Given the description of an element on the screen output the (x, y) to click on. 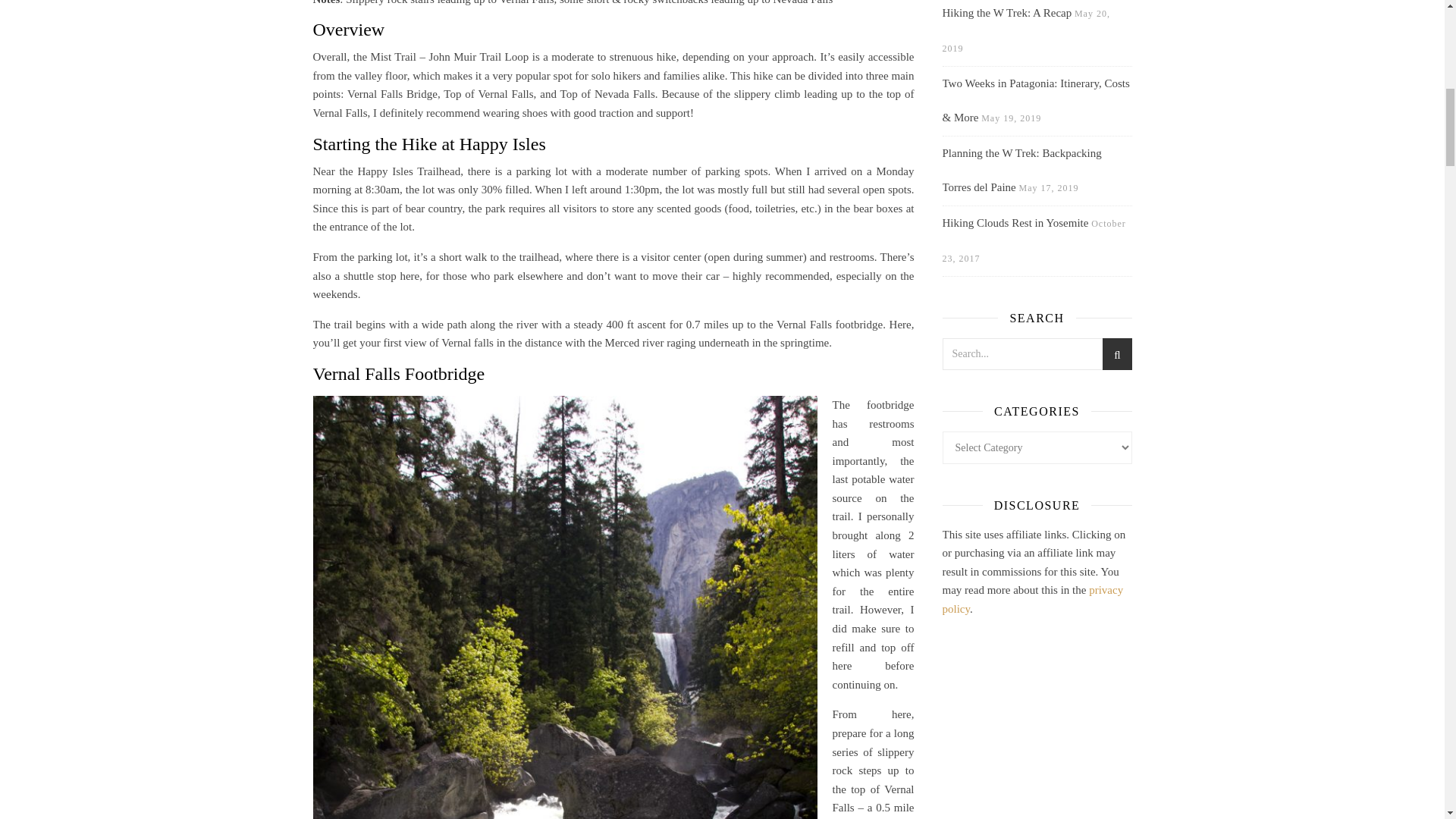
Planning the W Trek: Backpacking Torres del Paine (1021, 170)
Advertisement (1036, 739)
Hiking the W Trek: A Recap (1006, 12)
Hiking Clouds Rest in Yosemite (1014, 223)
